Given the description of an element on the screen output the (x, y) to click on. 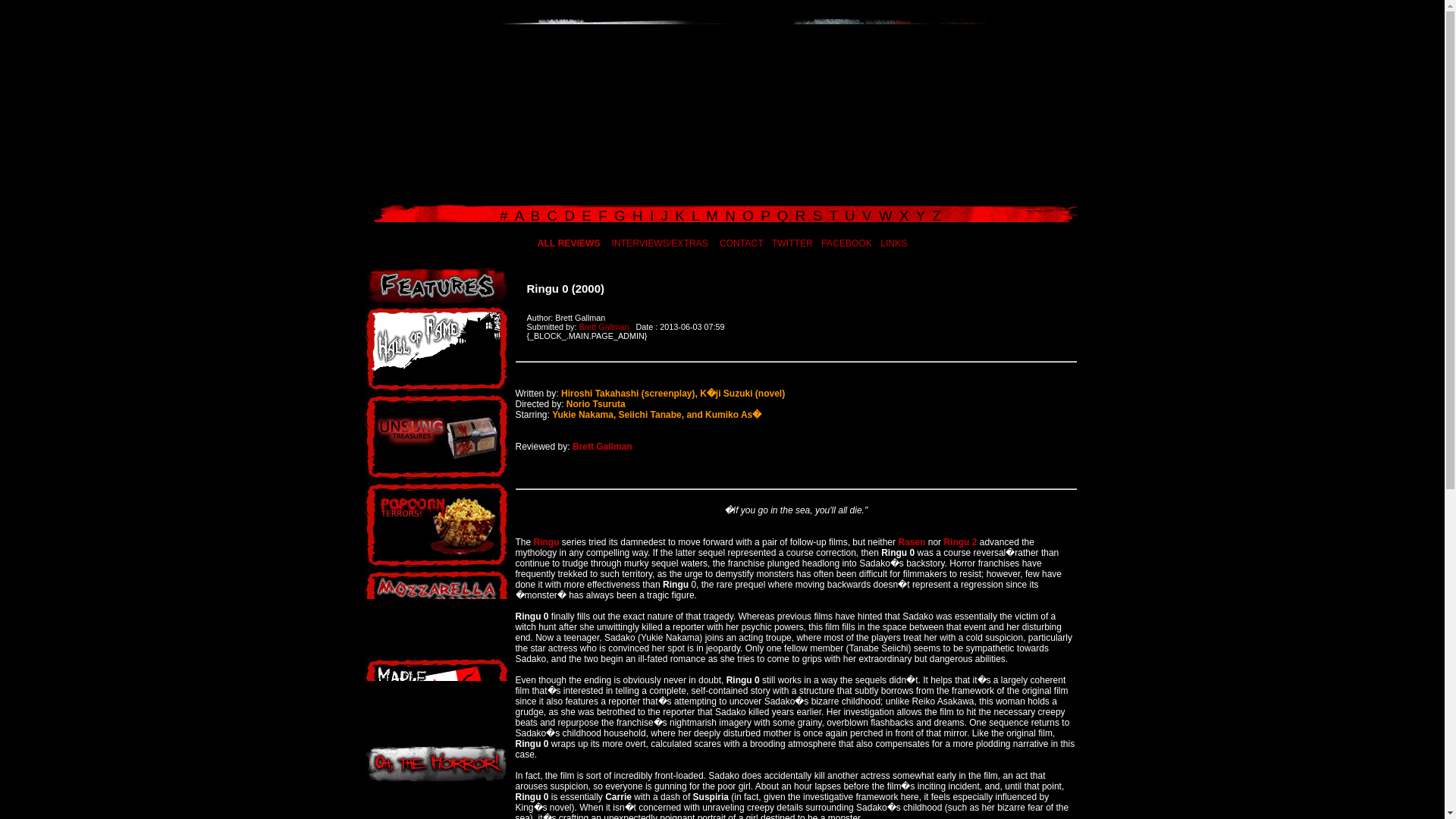
M  (714, 215)
LINKS (893, 243)
H  (638, 215)
R  (801, 215)
ALL REVIEWS (568, 243)
Q  (784, 215)
U  (851, 215)
TWITTER (791, 243)
G  (621, 215)
CONTACT (740, 243)
